Given the description of an element on the screen output the (x, y) to click on. 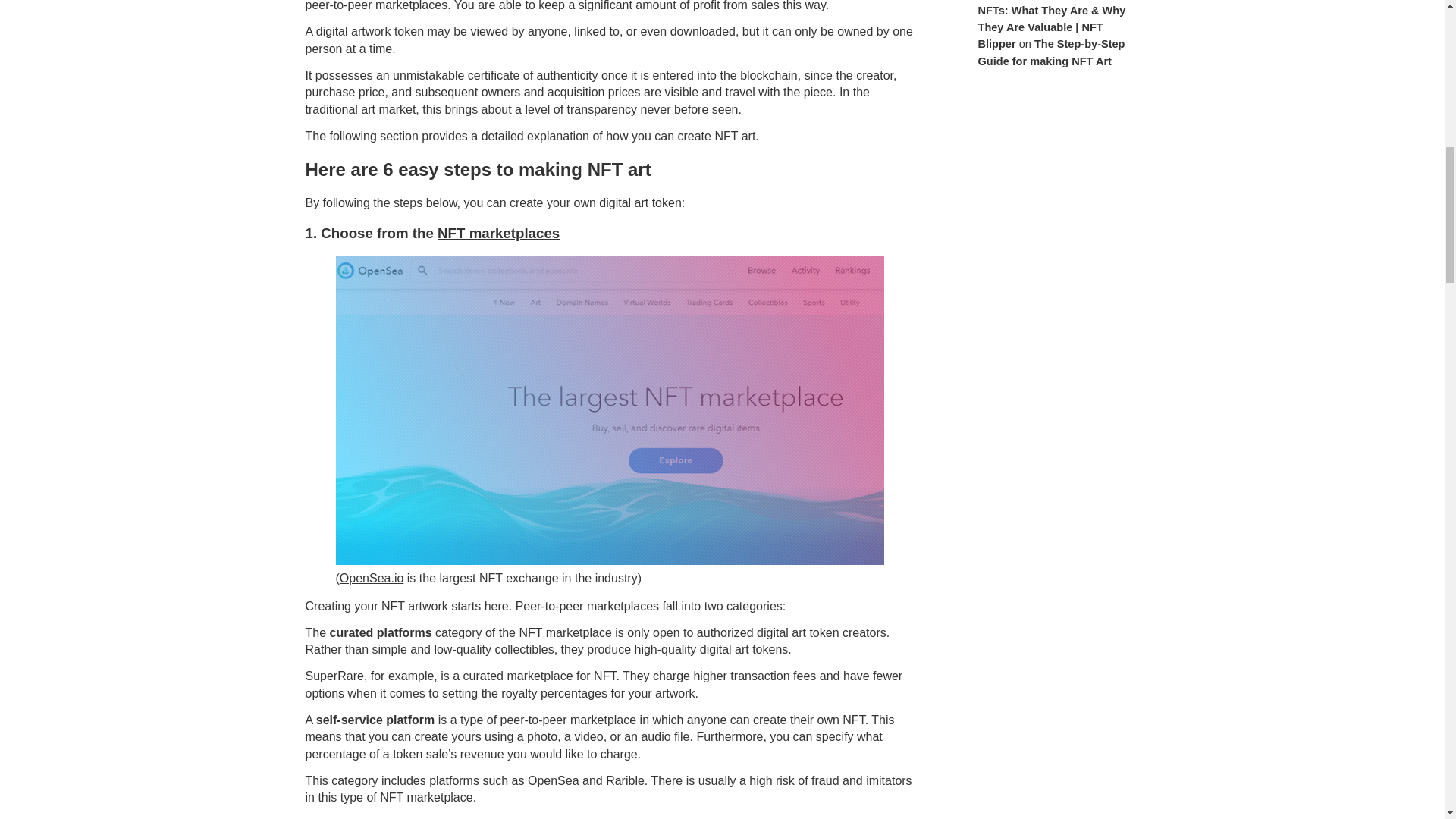
OpenSea.io (371, 577)
NFT marketplaces (498, 232)
